Given the description of an element on the screen output the (x, y) to click on. 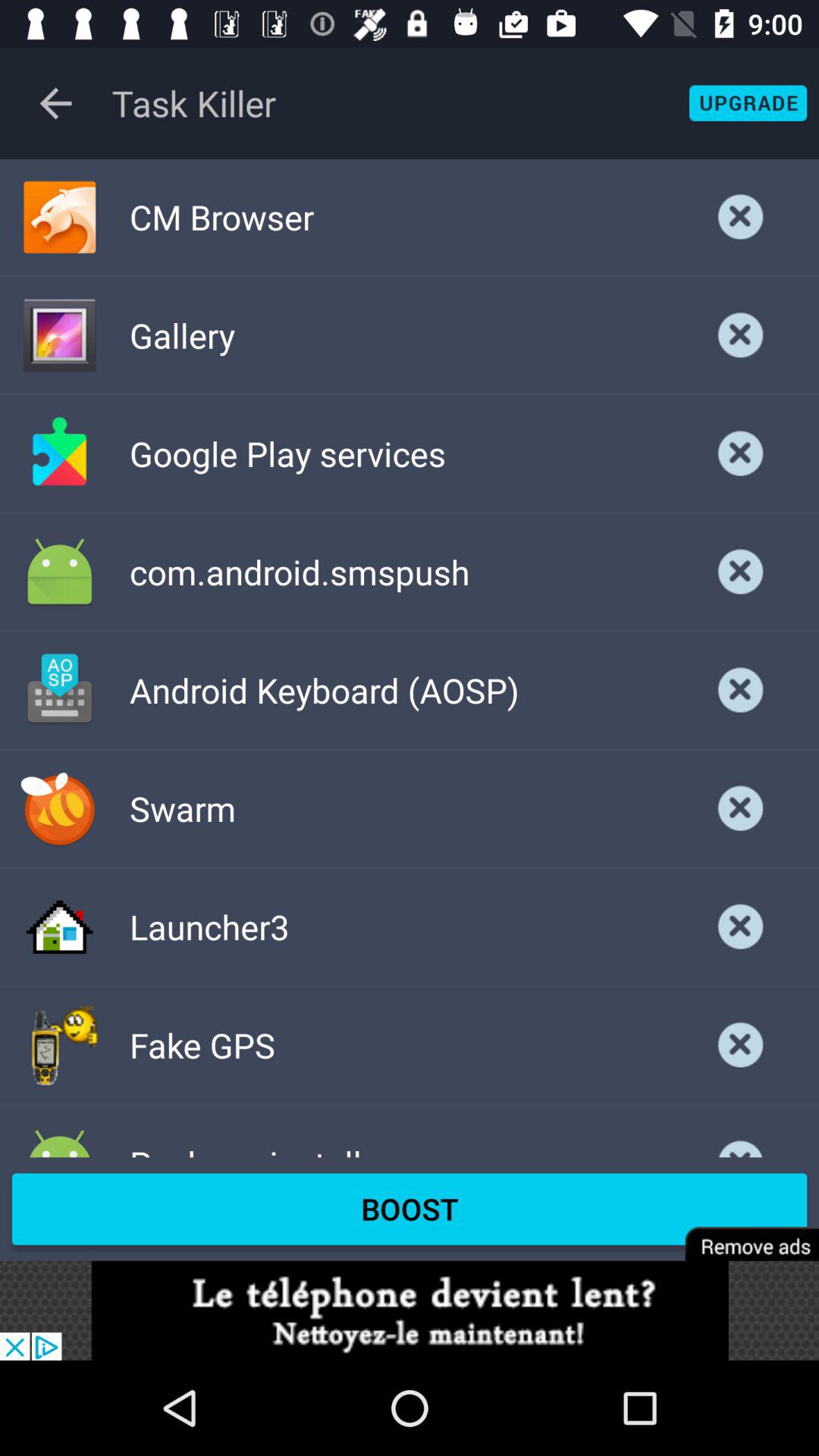
closeing the file (740, 926)
